Given the description of an element on the screen output the (x, y) to click on. 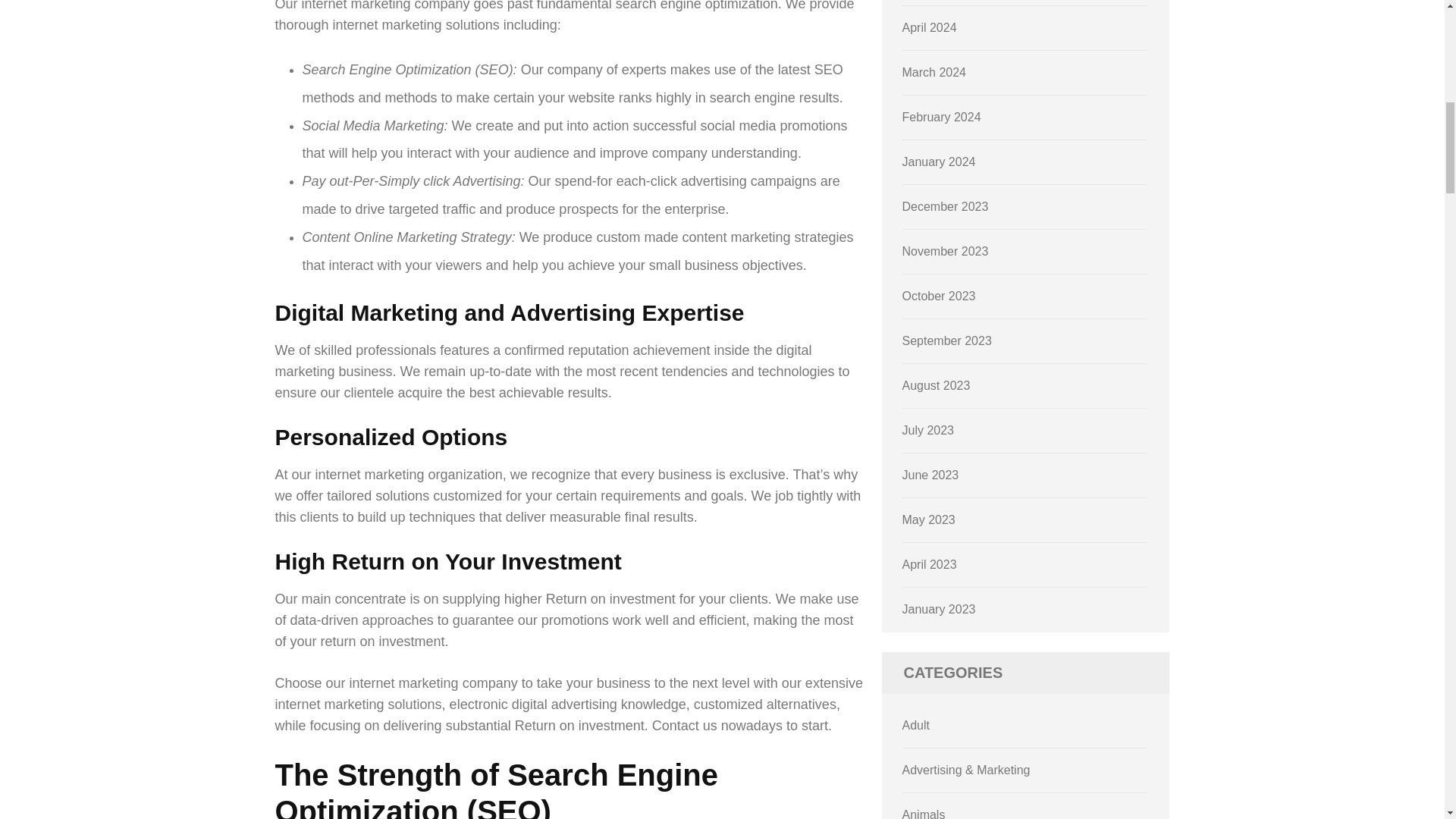
June 2023 (930, 474)
September 2023 (946, 340)
April 2024 (929, 27)
February 2024 (941, 116)
March 2024 (934, 72)
November 2023 (945, 250)
January 2023 (938, 608)
April 2023 (929, 563)
December 2023 (945, 205)
August 2023 (936, 385)
January 2024 (938, 161)
October 2023 (938, 295)
July 2023 (928, 430)
May 2023 (928, 519)
